Given the description of an element on the screen output the (x, y) to click on. 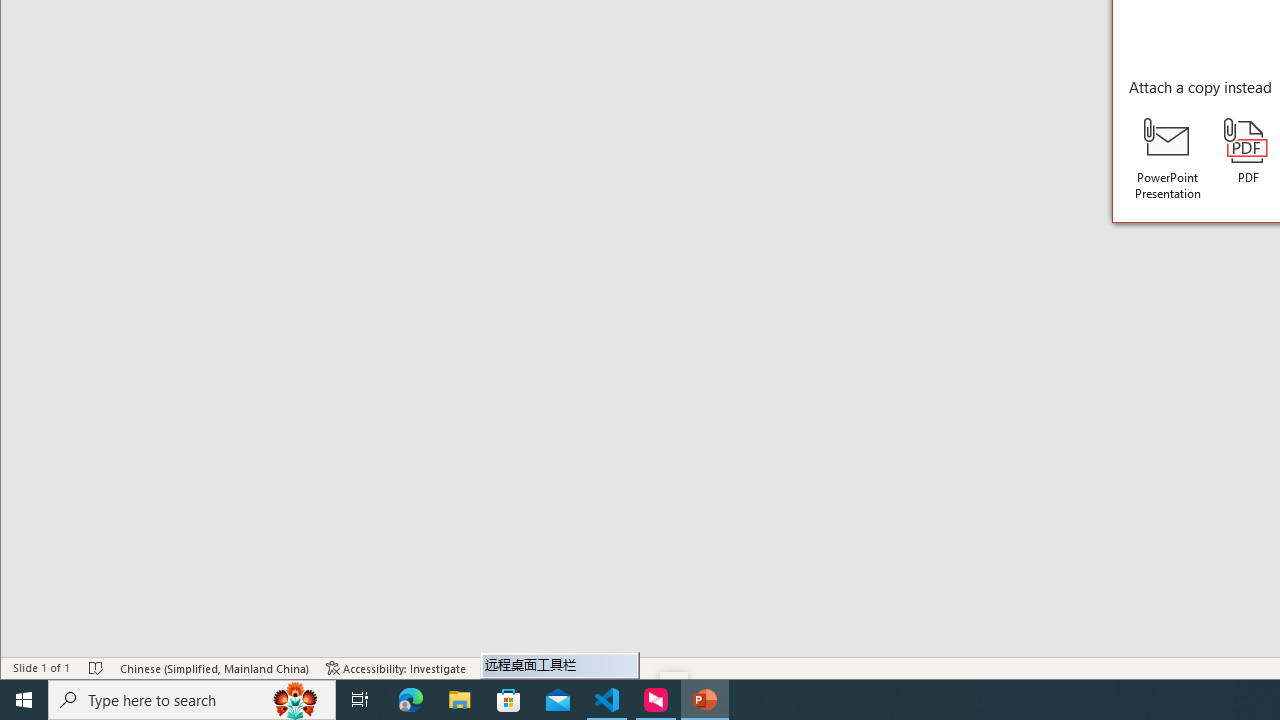
PDF (1247, 151)
Visual Studio Code - 1 running window (607, 699)
Task View (359, 699)
File Explorer (460, 699)
PowerPoint Presentation (1167, 159)
Type here to search (191, 699)
Search highlights icon opens search home window (295, 699)
PowerPoint - 1 running window (704, 699)
Microsoft Store (509, 699)
Microsoft Edge (411, 699)
